Given the description of an element on the screen output the (x, y) to click on. 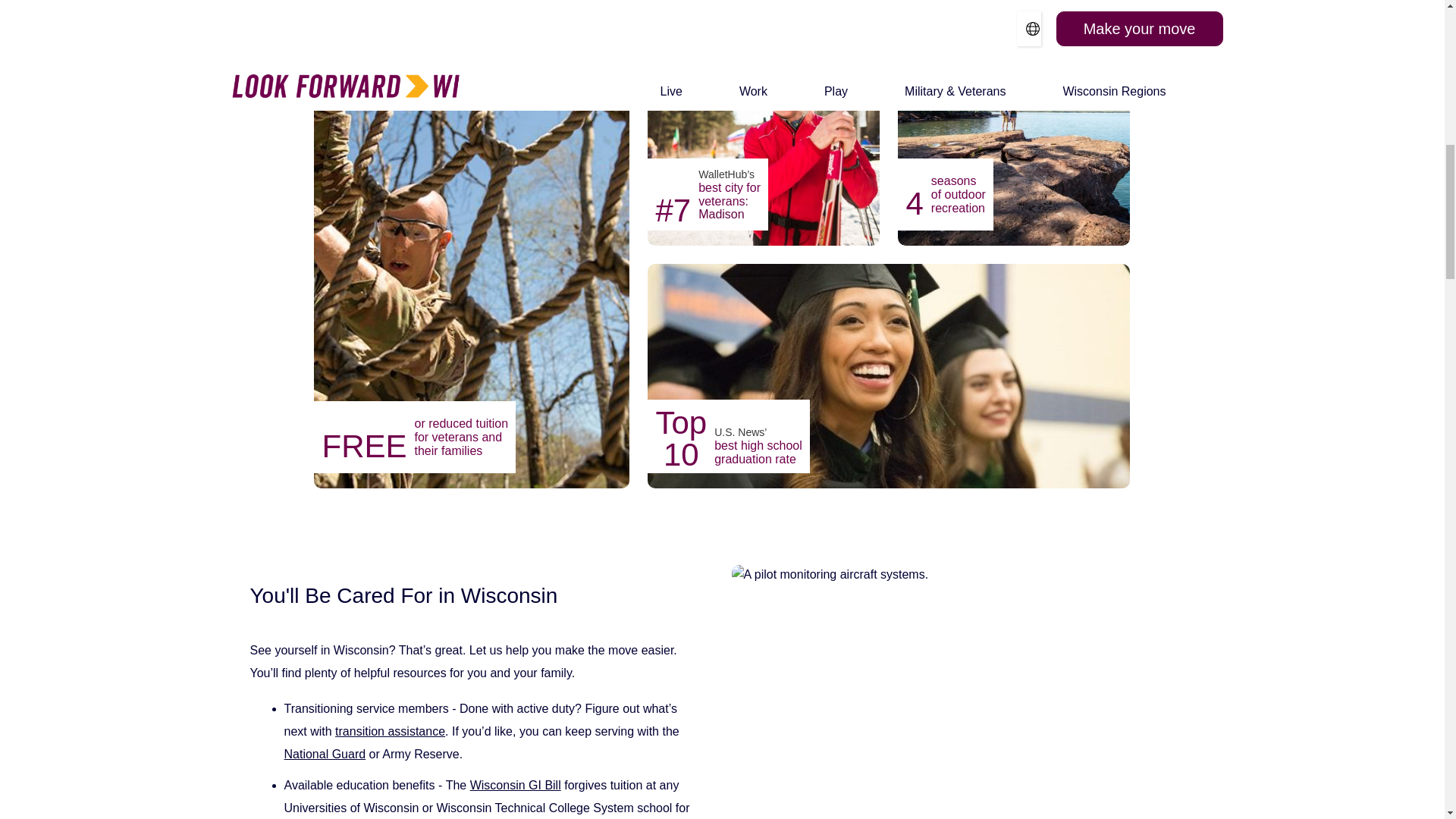
transition assistance (389, 730)
Wisconsin GI Bill (515, 784)
National Guard (324, 753)
